Given the description of an element on the screen output the (x, y) to click on. 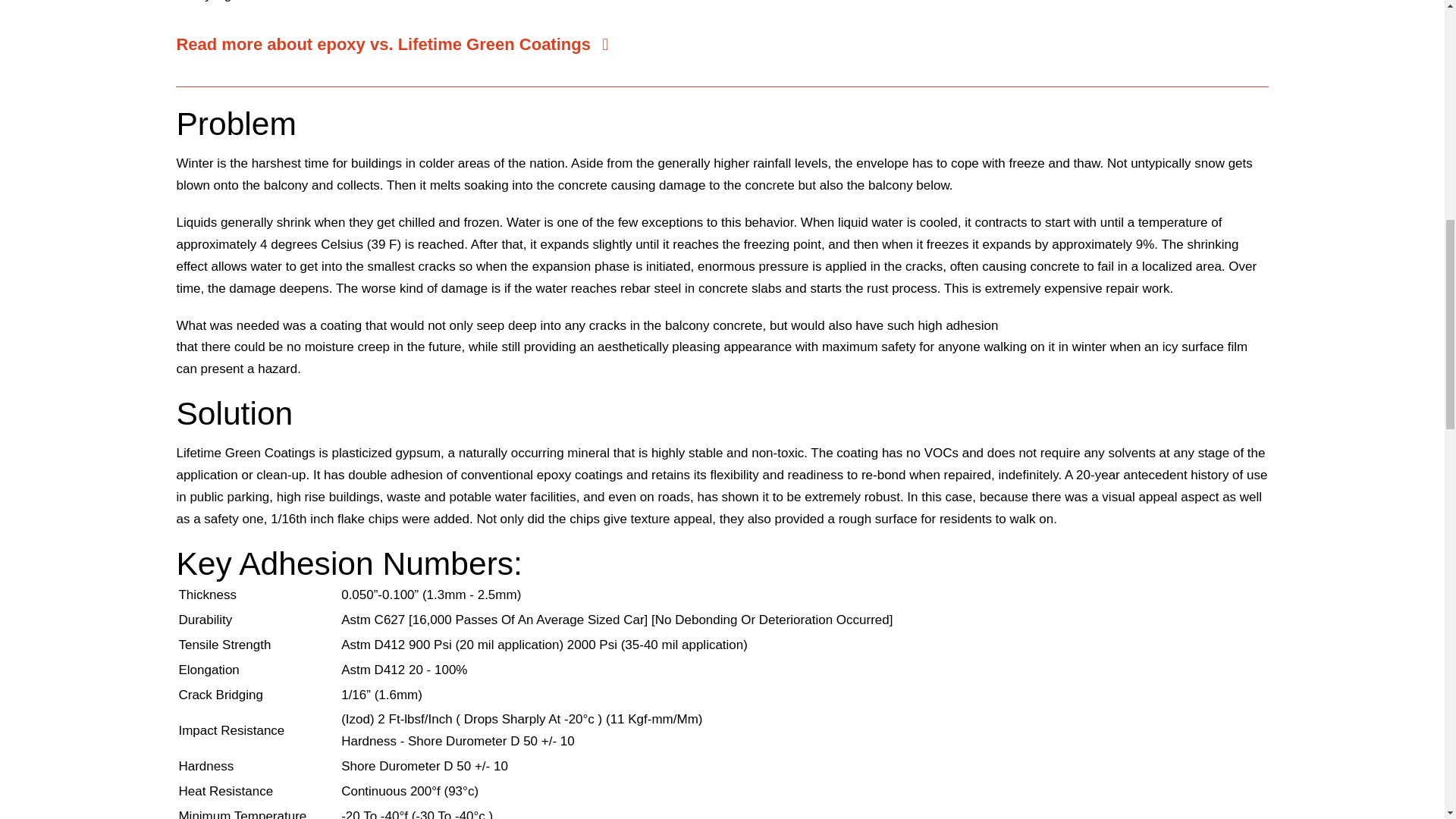
Read more about epoxy vs. Lifetime Green Coatings (409, 44)
